Given the description of an element on the screen output the (x, y) to click on. 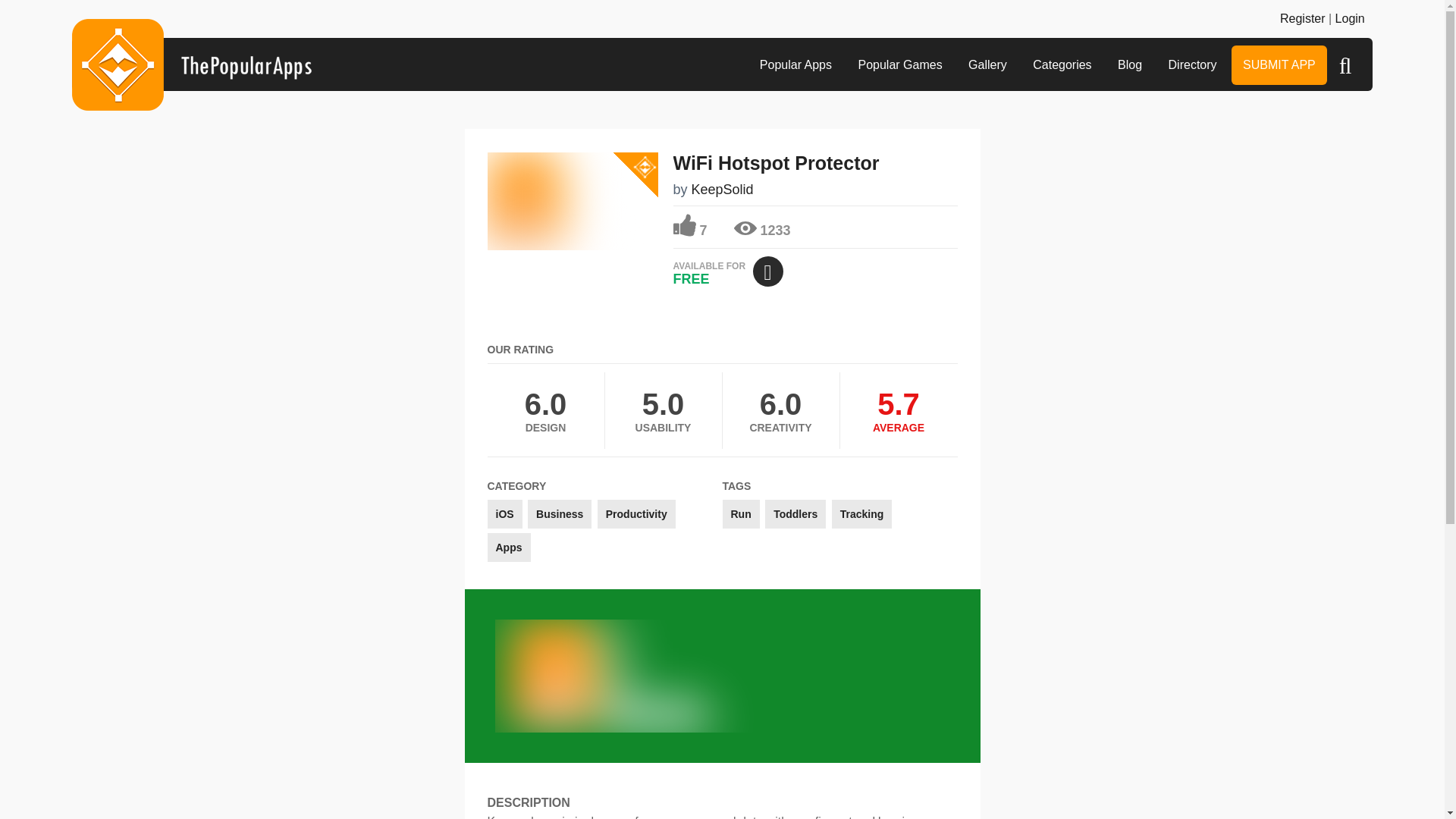
SUBMIT APP (1278, 65)
Apps (507, 547)
Popular Games (899, 65)
7 (689, 226)
Login (1350, 18)
Register (1301, 18)
The Popular Apps (191, 64)
Toddlers (795, 513)
Gallery (986, 65)
Popular Apps (795, 65)
Productivity (635, 513)
Business (559, 513)
iOS (503, 513)
Blog (1129, 65)
Categories (1062, 65)
